Given the description of an element on the screen output the (x, y) to click on. 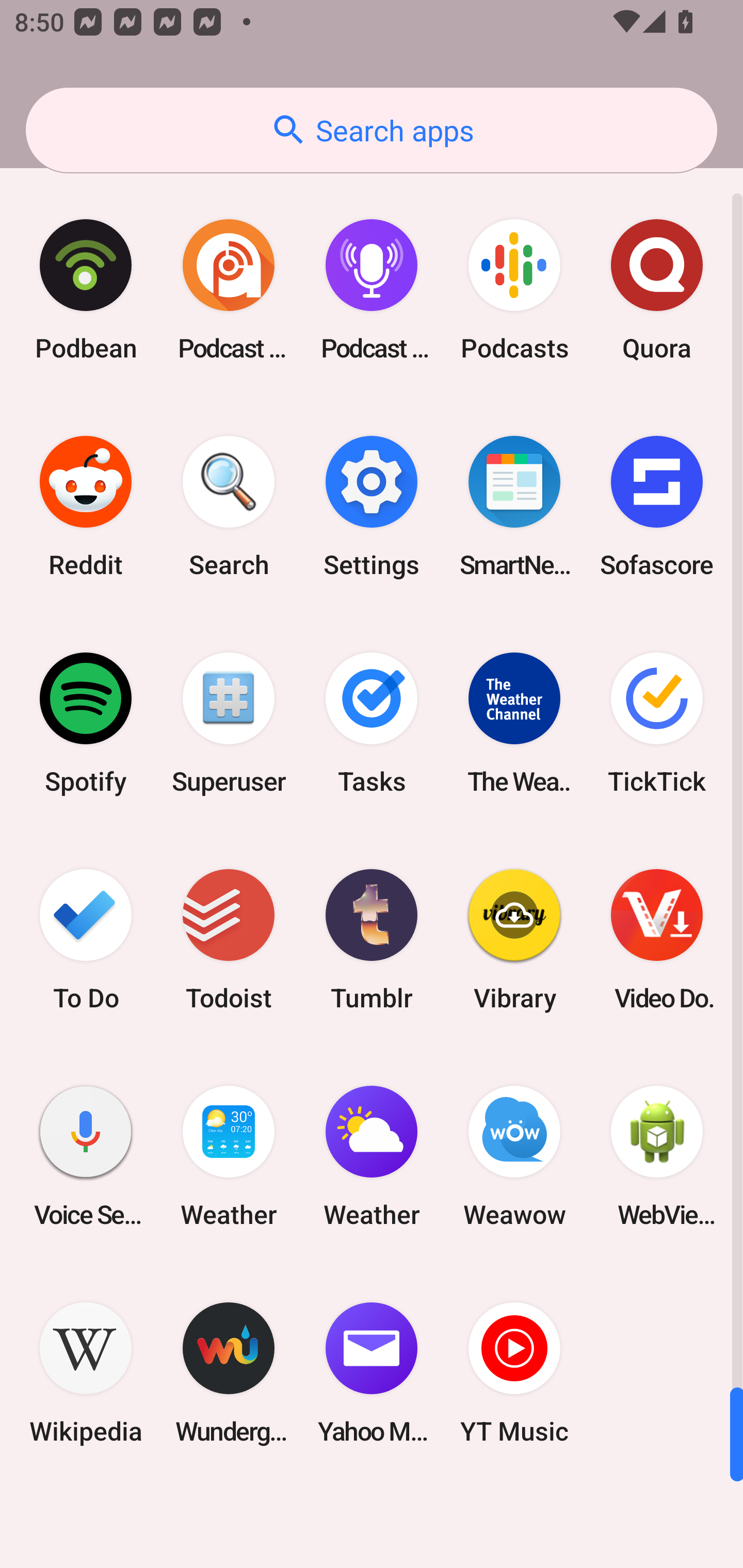
  Search apps (371, 130)
Podbean (85, 289)
Podcast Addict (228, 289)
Podcast Player (371, 289)
Podcasts (514, 289)
Quora (656, 289)
Reddit (85, 506)
Search (228, 506)
Settings (371, 506)
SmartNews (514, 506)
Sofascore (656, 506)
Spotify (85, 722)
Superuser (228, 722)
Tasks (371, 722)
The Weather Channel (514, 722)
TickTick (656, 722)
To Do (85, 939)
Todoist (228, 939)
Tumblr (371, 939)
Vibrary (514, 939)
Video Downloader & Ace Player (656, 939)
Voice Search (85, 1156)
Weather (228, 1156)
Weather (371, 1156)
Weawow (514, 1156)
WebView Browser Tester (656, 1156)
Wikipedia (85, 1373)
Wunderground (228, 1373)
Yahoo Mail (371, 1373)
YT Music (514, 1373)
